Given the description of an element on the screen output the (x, y) to click on. 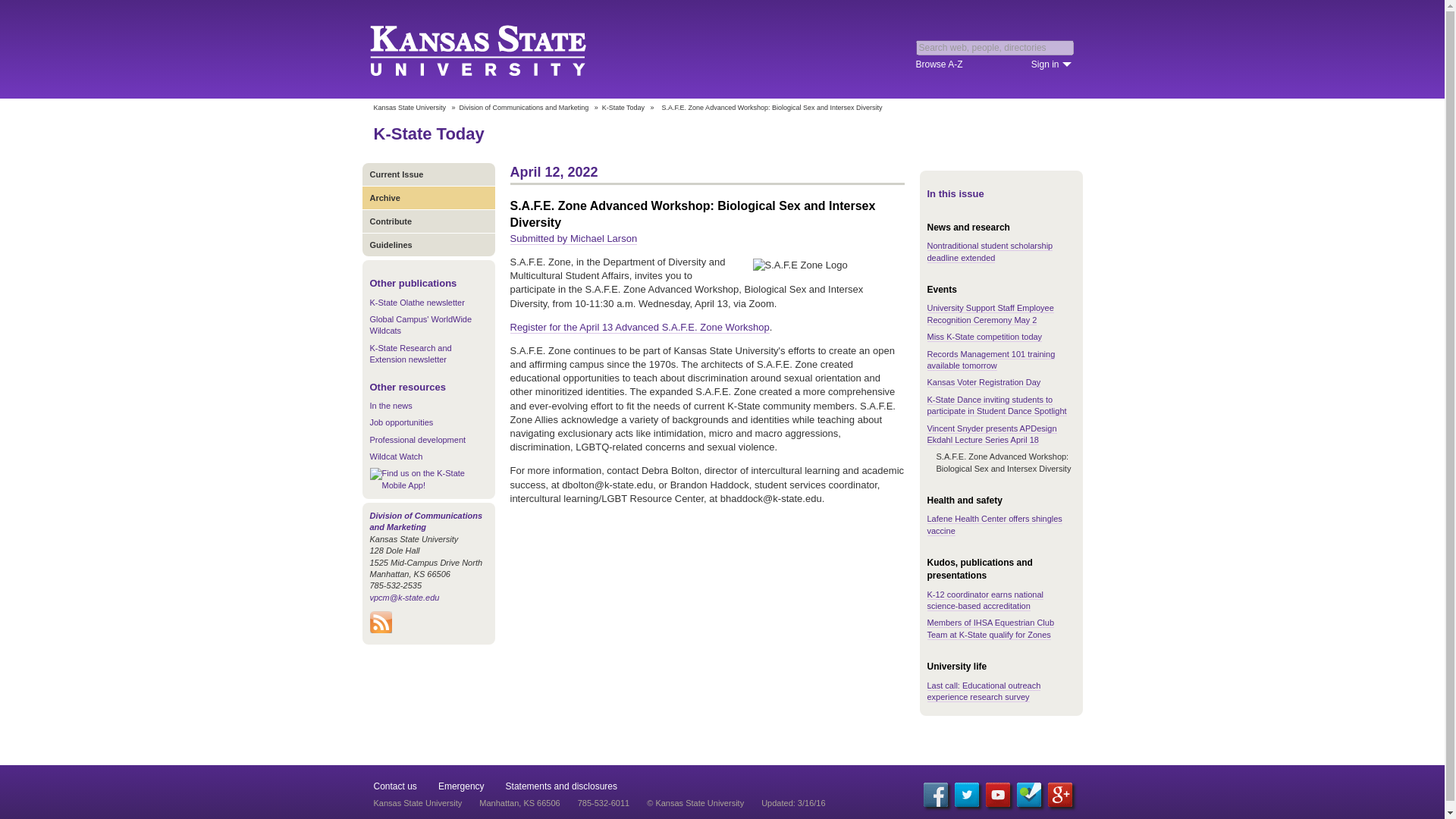
Professional development (417, 439)
Facebook (935, 794)
Kansas State University (496, 49)
K-State Olathe newsletter (416, 302)
Wildcat Watch (396, 456)
Miss K-State competition today (984, 337)
K-State Today (427, 133)
S.A.F.E Zone Logo (828, 264)
Division of Communications and Marketing (426, 521)
Sign in (1050, 64)
Subscribe to K-State Today RSS feeds (380, 629)
Search web, people, directories (994, 47)
Job opportunities (401, 421)
